Given the description of an element on the screen output the (x, y) to click on. 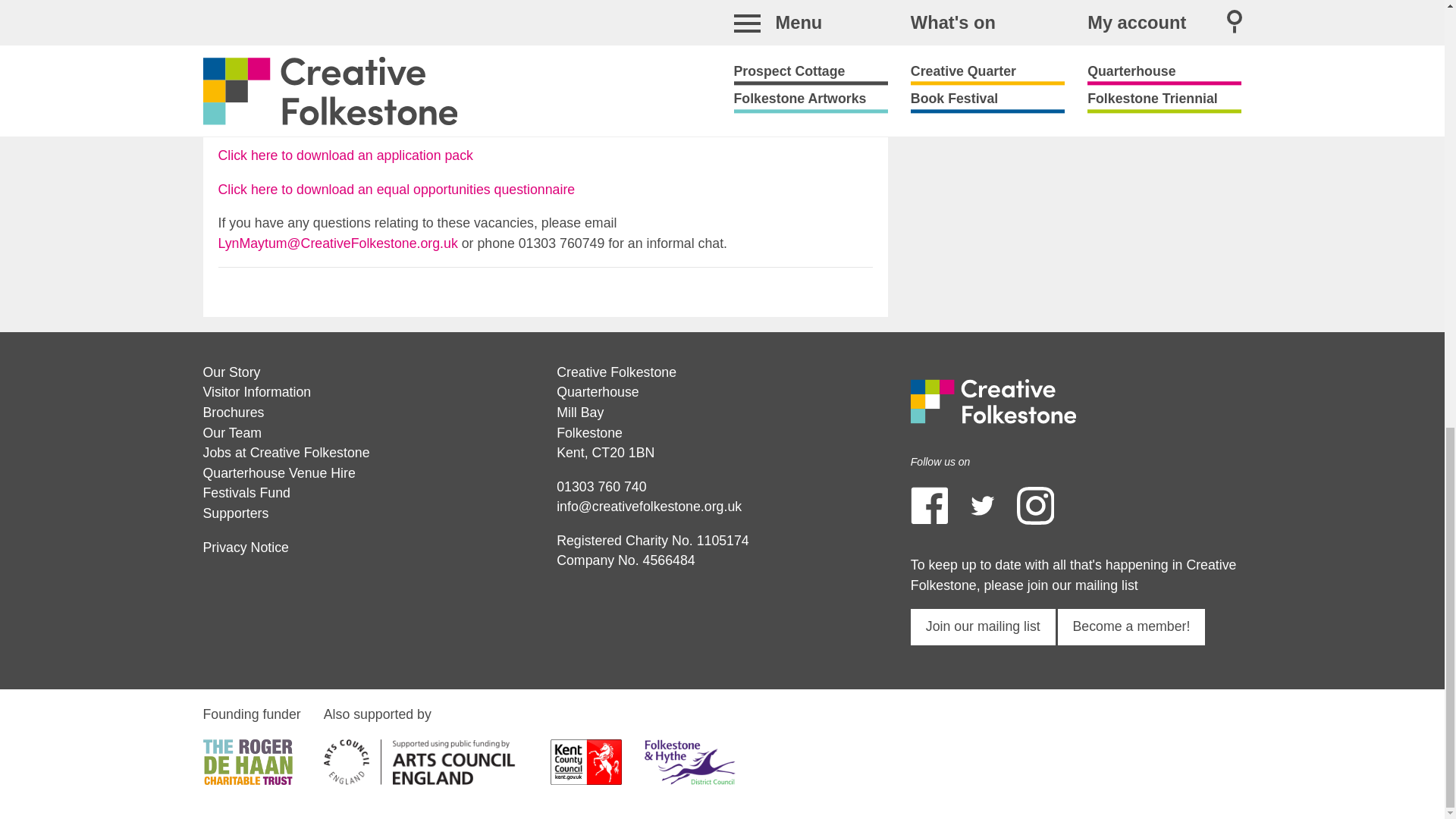
Twitter (982, 505)
Instagram (1035, 505)
Facebook (929, 505)
Creative Folkestone (993, 401)
